Given the description of an element on the screen output the (x, y) to click on. 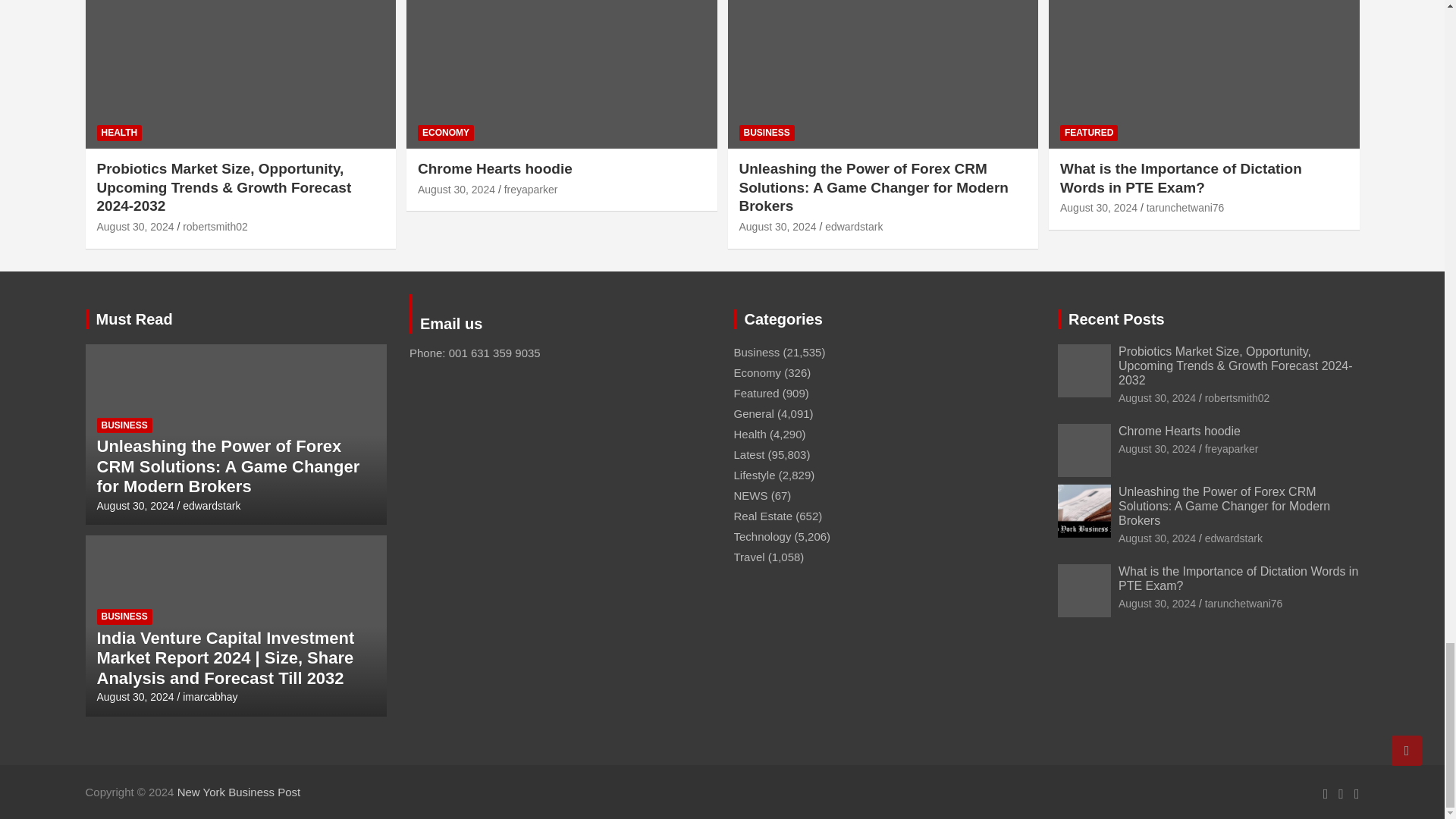
Chrome Hearts hoodie (456, 189)
Chrome Hearts hoodie (1156, 449)
What is the Importance of Dictation Words in PTE Exam? (1098, 207)
